Given the description of an element on the screen output the (x, y) to click on. 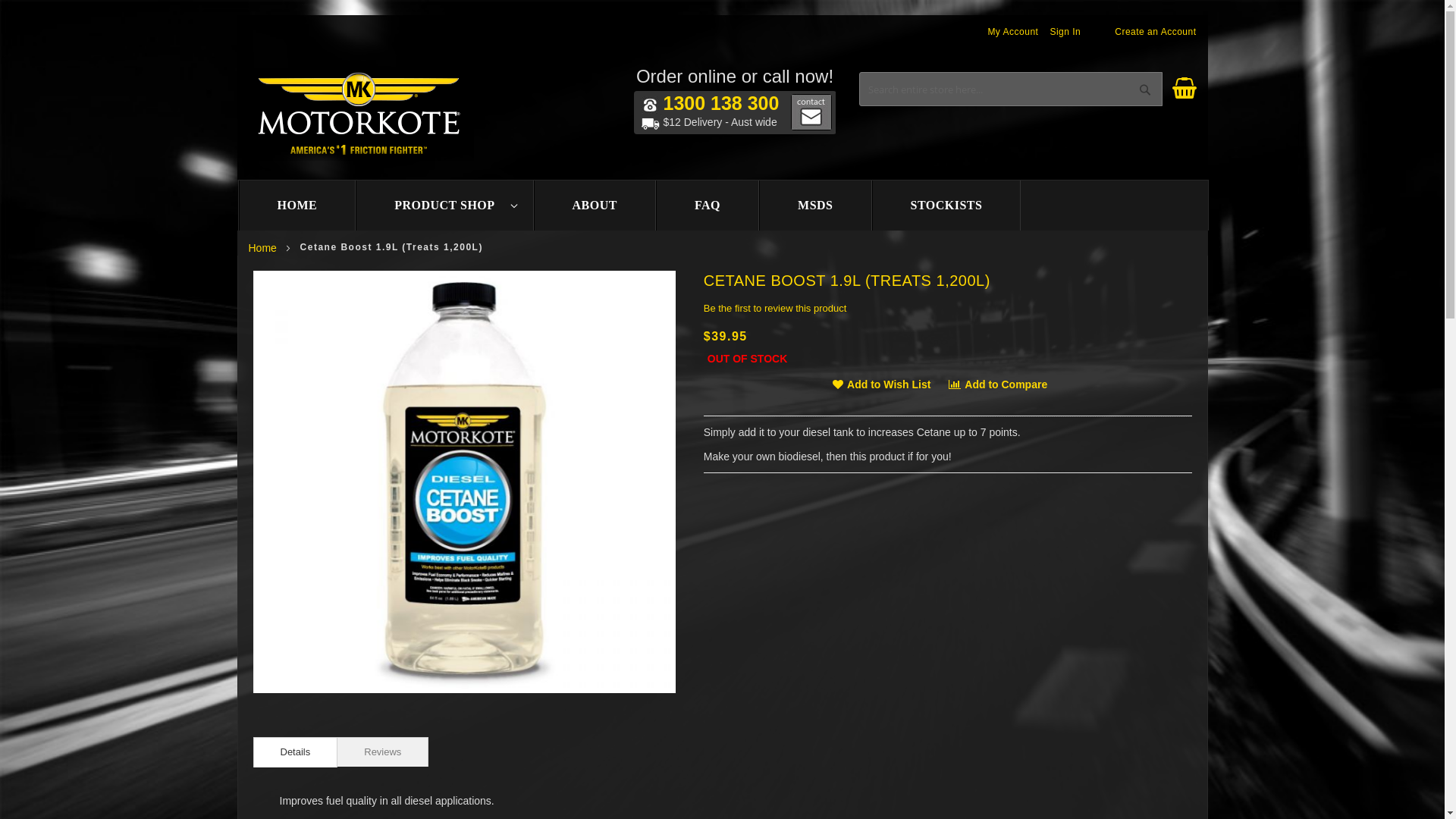
My Account Element type: text (1012, 31)
MotorKote Australia Element type: hover (360, 114)
MSDS Element type: text (815, 205)
PRODUCT SHOP Element type: text (444, 205)
Add to Wish List Element type: text (882, 384)
Create an Account Element type: text (1154, 31)
STOCKISTS Element type: text (946, 205)
Details Element type: text (295, 752)
HOME Element type: text (296, 205)
Search Element type: text (1145, 89)
Be the first to review this product Element type: text (775, 307)
Home Element type: text (262, 247)
Twitter Follow Button Element type: hover (997, 124)
Add to Compare Element type: text (997, 384)
ABOUT Element type: text (594, 205)
Sign In Element type: text (1064, 31)
Reviews Element type: text (382, 751)
FAQ Element type: text (707, 205)
